Given the description of an element on the screen output the (x, y) to click on. 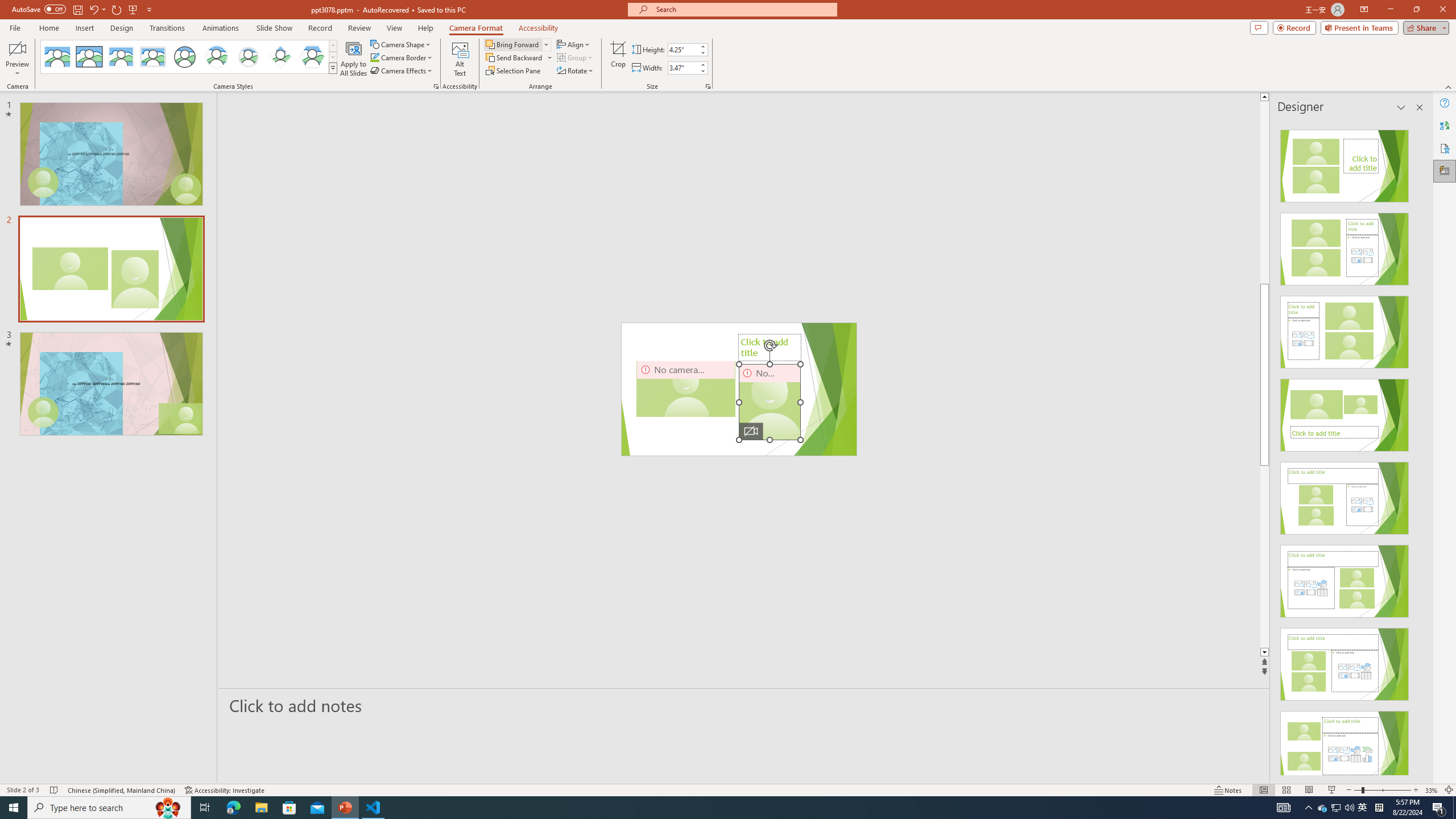
Enable Camera Preview (17, 48)
